Given the description of an element on the screen output the (x, y) to click on. 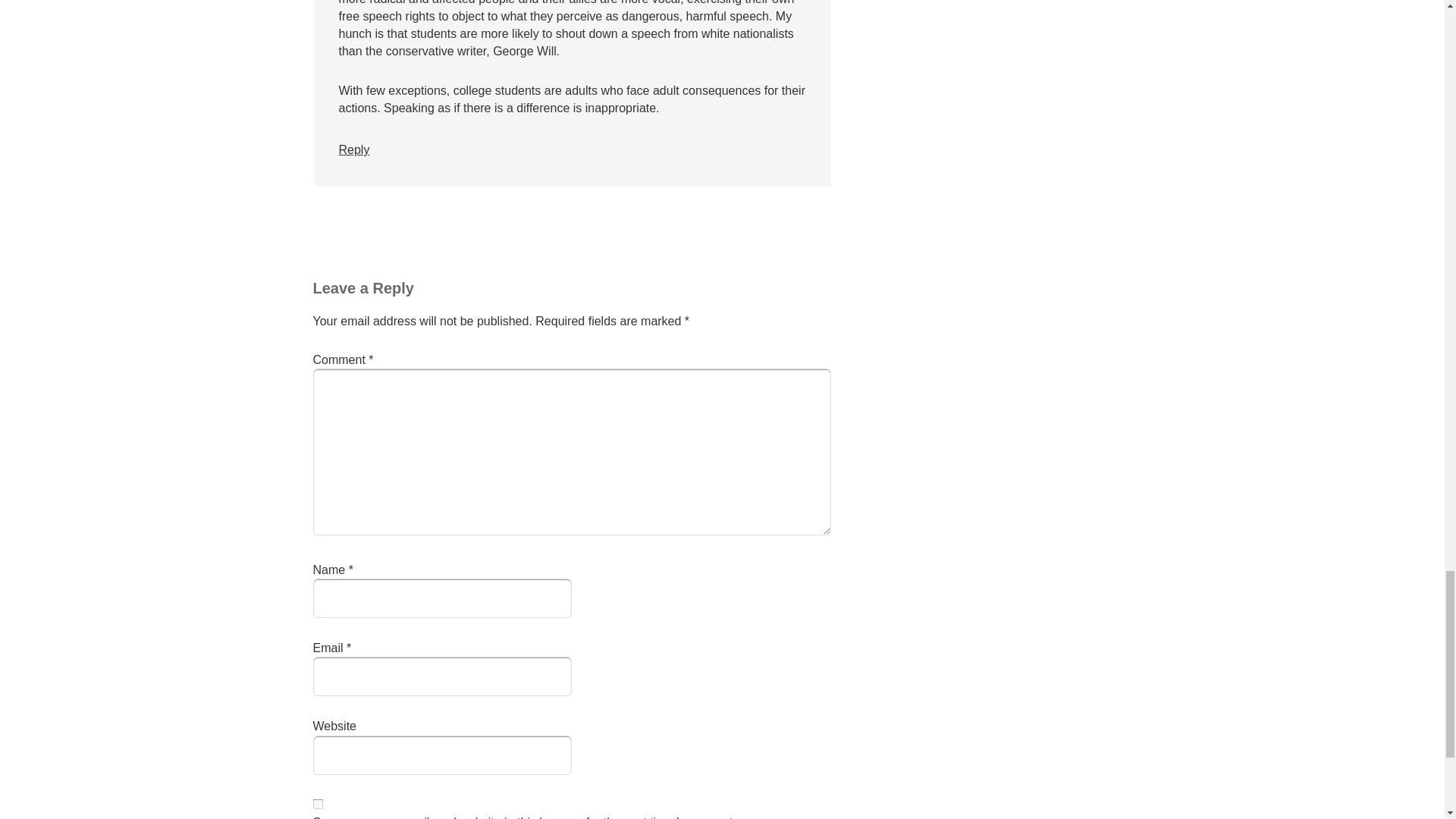
yes (317, 804)
